Given the description of an element on the screen output the (x, y) to click on. 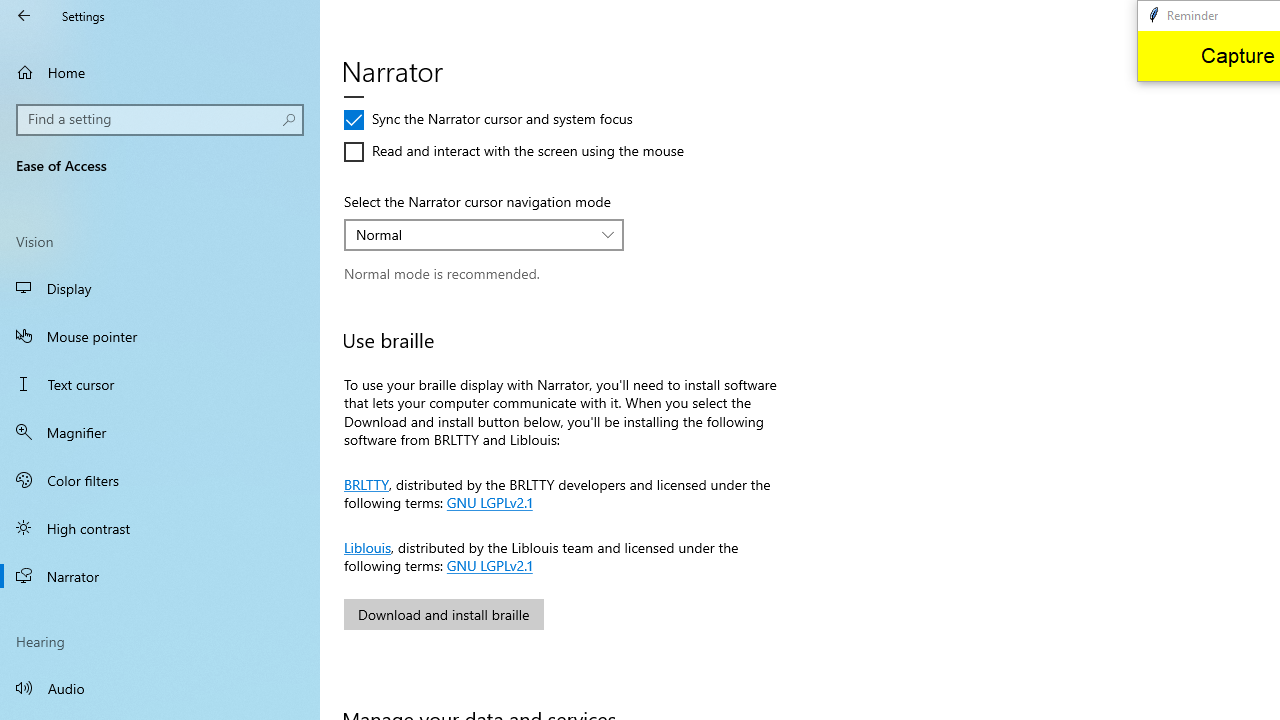
Mouse pointer (160, 335)
Read and interact with the screen using the mouse (514, 151)
High contrast (160, 527)
Select the Narrator cursor navigation mode (484, 234)
Normal (473, 234)
Sync the Narrator cursor and system focus (488, 119)
Liblouis (367, 546)
Home (160, 71)
Text cursor (160, 384)
Narrator (160, 575)
Back (24, 15)
Download and install braille (444, 614)
Search box, Find a setting (160, 119)
GNU LGPLv2.1 (488, 564)
